Given the description of an element on the screen output the (x, y) to click on. 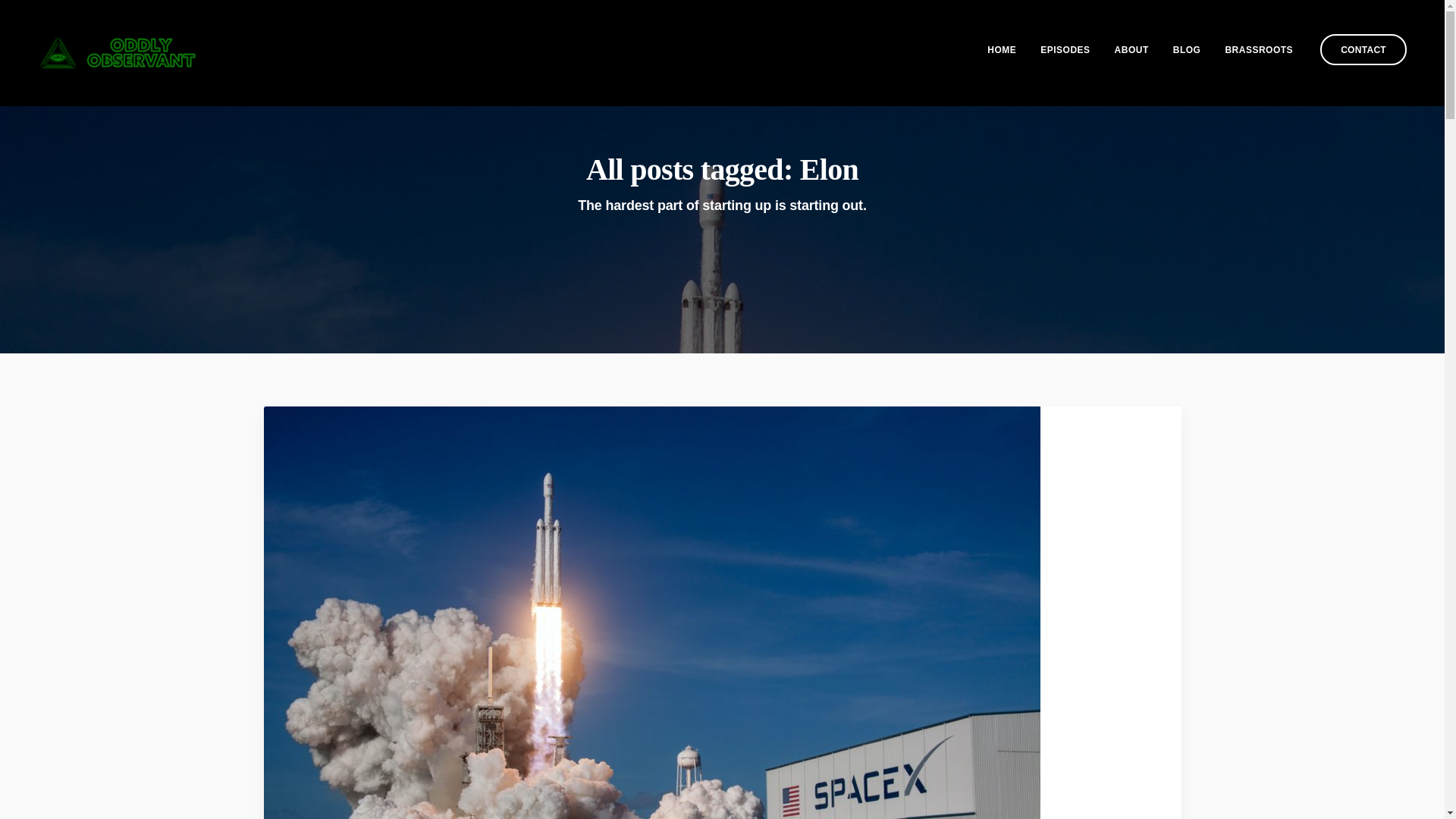
BRASSROOTS (1258, 49)
About (1131, 49)
Brassroots (1258, 49)
BLOG (1186, 49)
Episodes (1064, 49)
CONTACT (1363, 49)
CONTACT (1363, 49)
SpaceX Launch Postponed (664, 689)
Home (1001, 49)
HOME (1001, 49)
Blog (1186, 49)
ABOUT (1131, 49)
EPISODES (1064, 49)
